Given the description of an element on the screen output the (x, y) to click on. 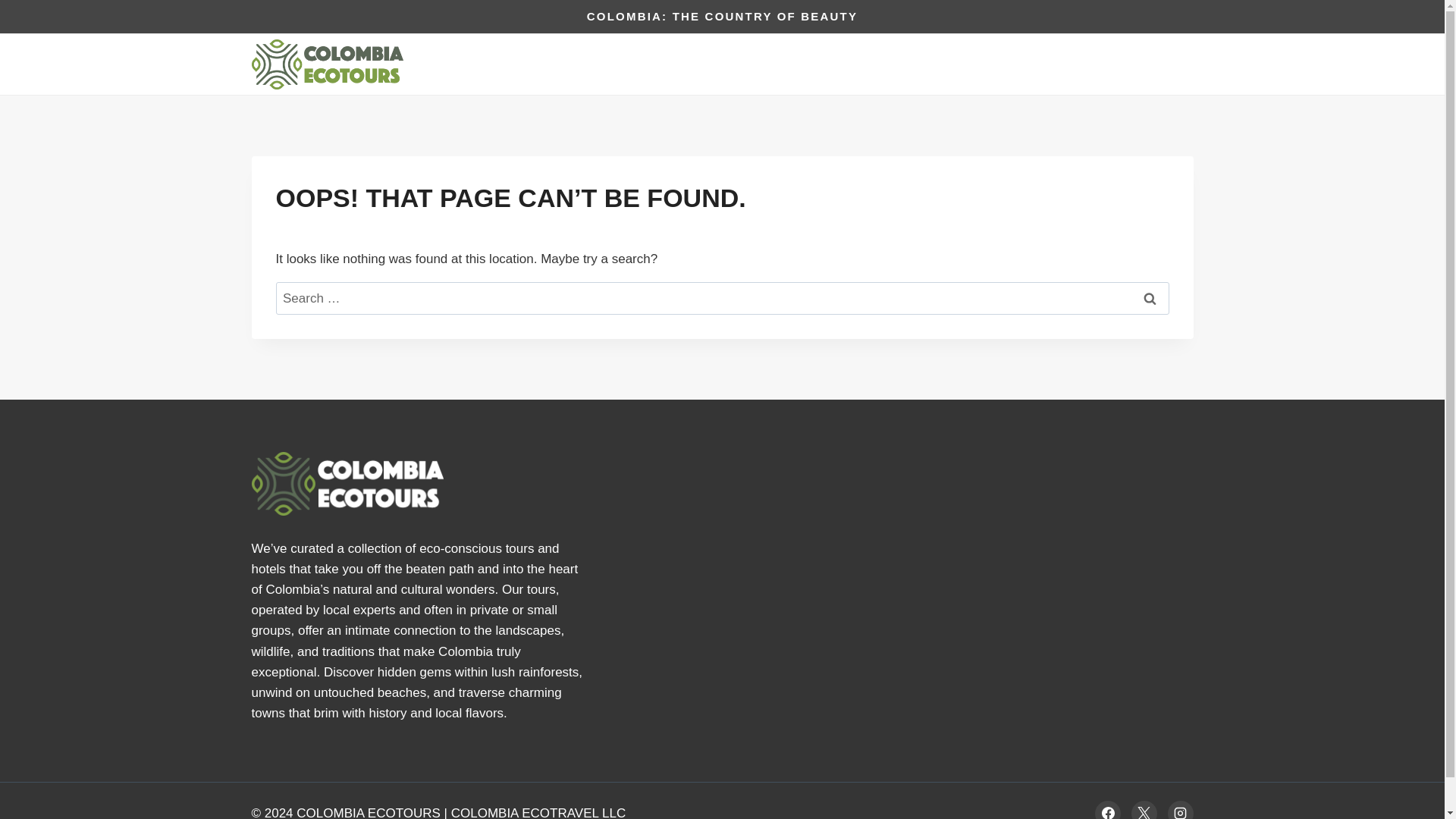
COLOMBIA ECOTRAVEL LLC (538, 812)
Search (1150, 297)
Search (1150, 297)
Search (1150, 297)
COLOMBIA: THE COUNTRY OF BEAUTY (721, 15)
